Given the description of an element on the screen output the (x, y) to click on. 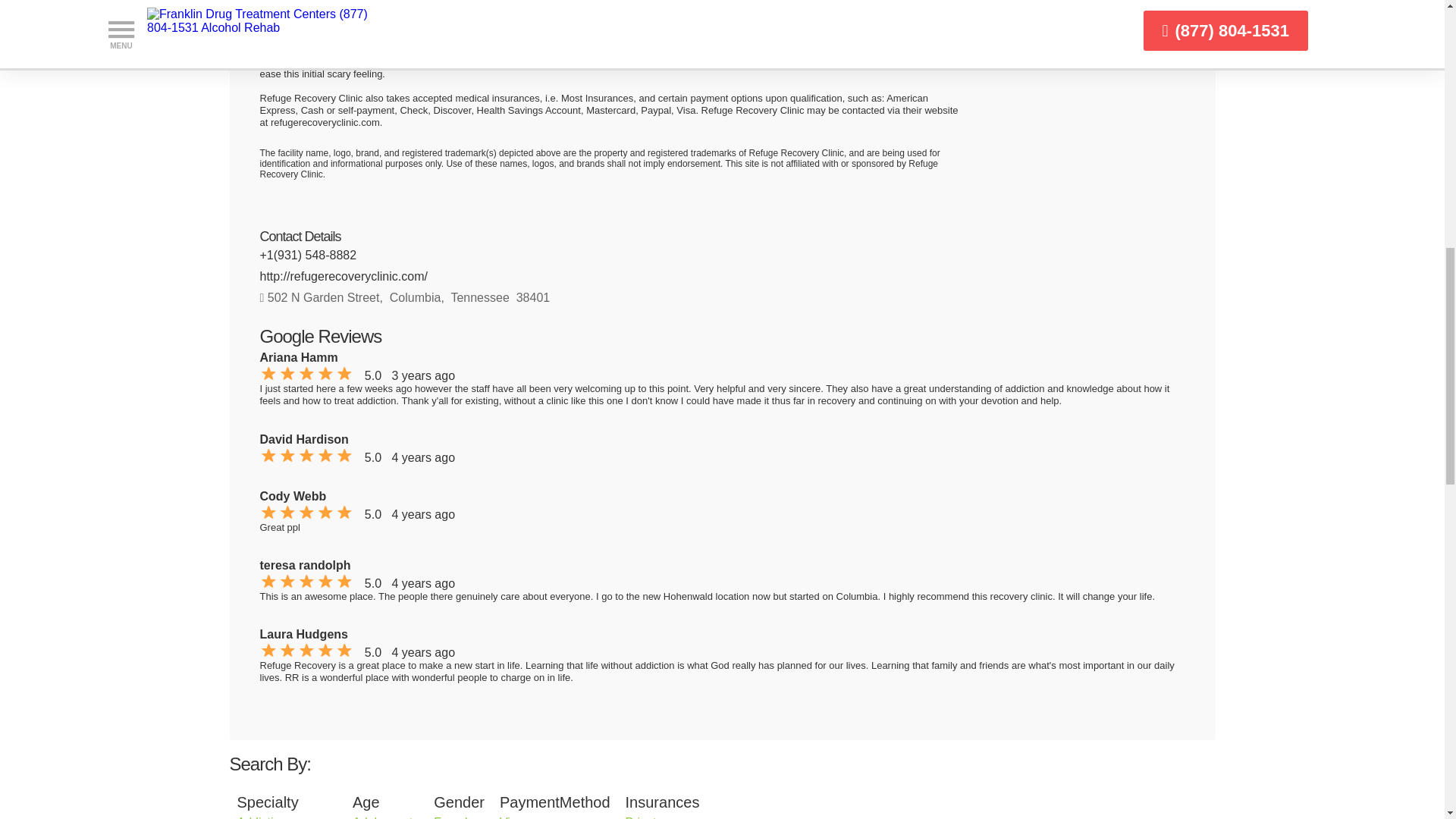
Addiction (260, 817)
Visa (510, 817)
Female (453, 817)
Adolescents (385, 817)
Private (644, 817)
